Given the description of an element on the screen output the (x, y) to click on. 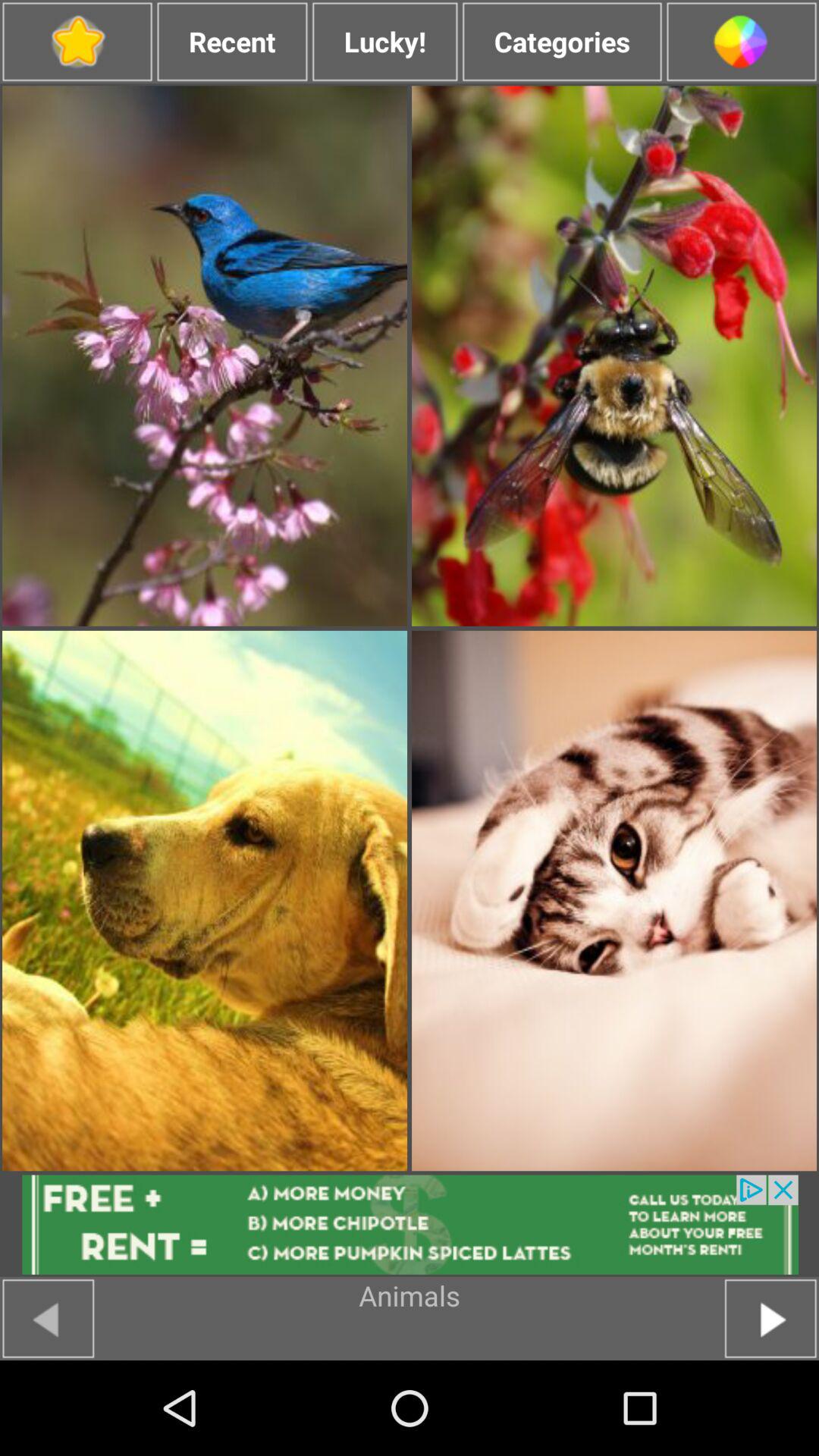
go to next page (770, 1318)
